Given the description of an element on the screen output the (x, y) to click on. 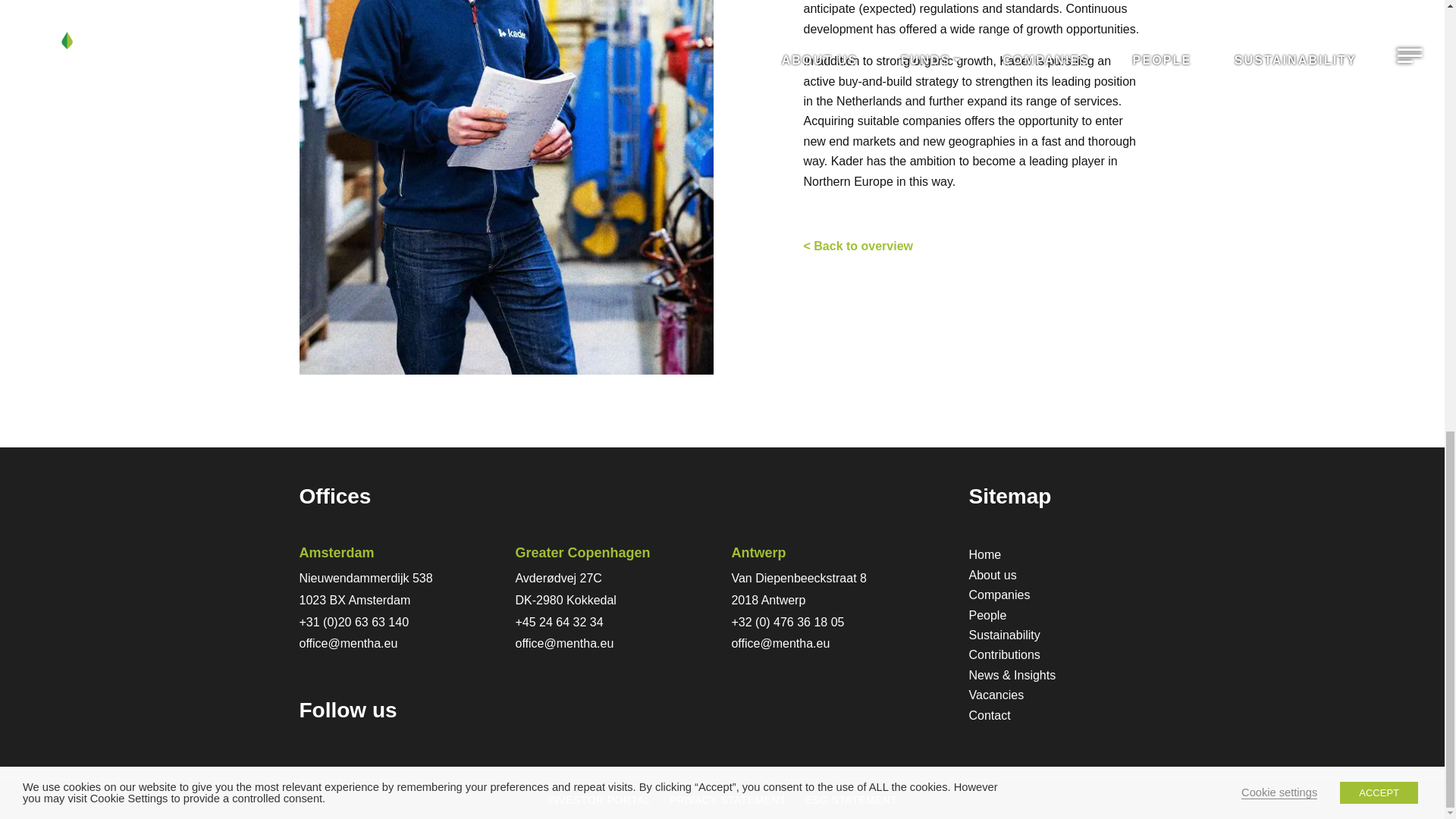
Companies (1057, 595)
People (1057, 615)
About us (1057, 575)
Home (1057, 555)
Sustainability (1057, 635)
Contributions (1057, 655)
